Given the description of an element on the screen output the (x, y) to click on. 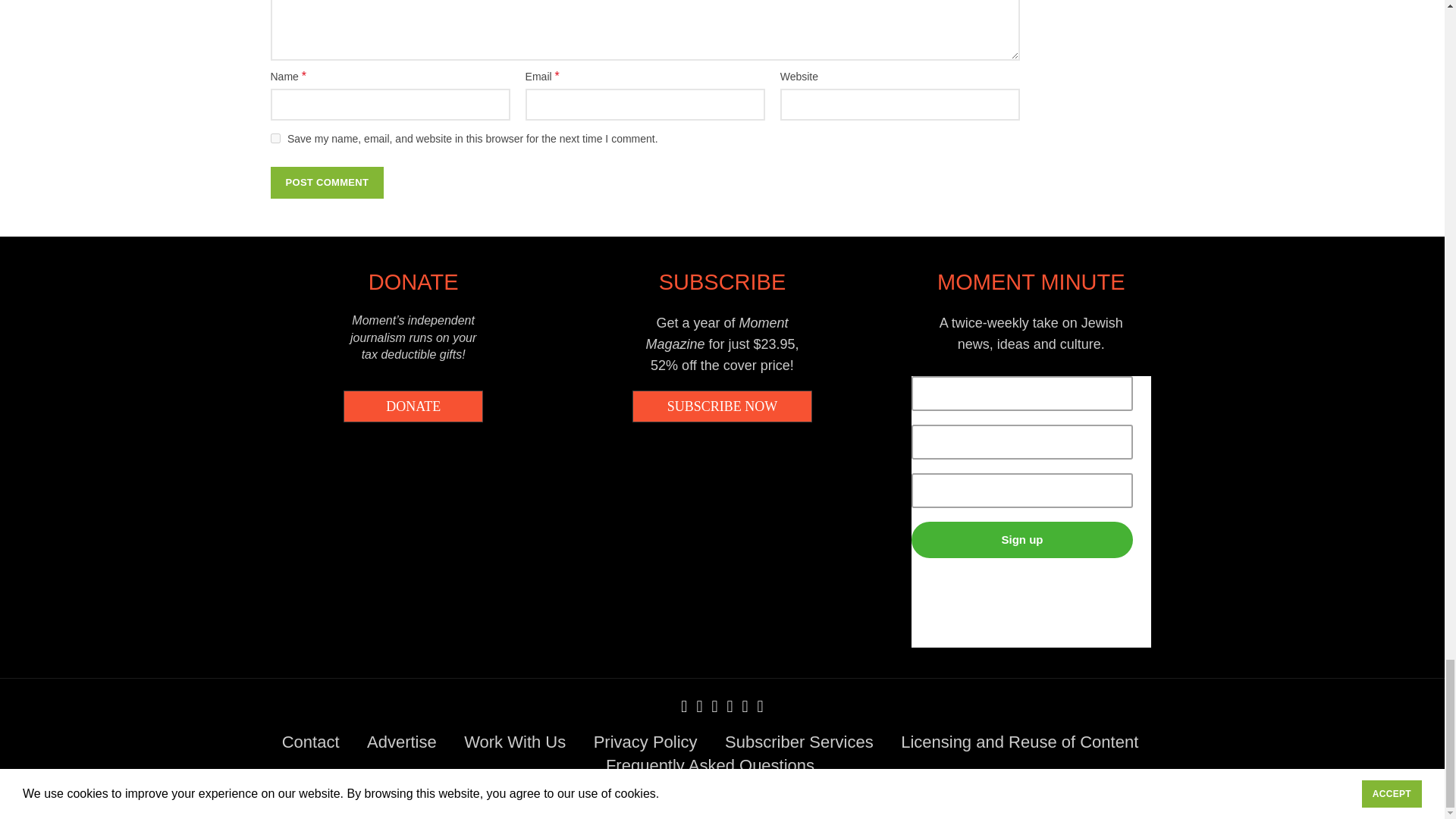
yes (274, 138)
Post Comment (326, 183)
